Given the description of an element on the screen output the (x, y) to click on. 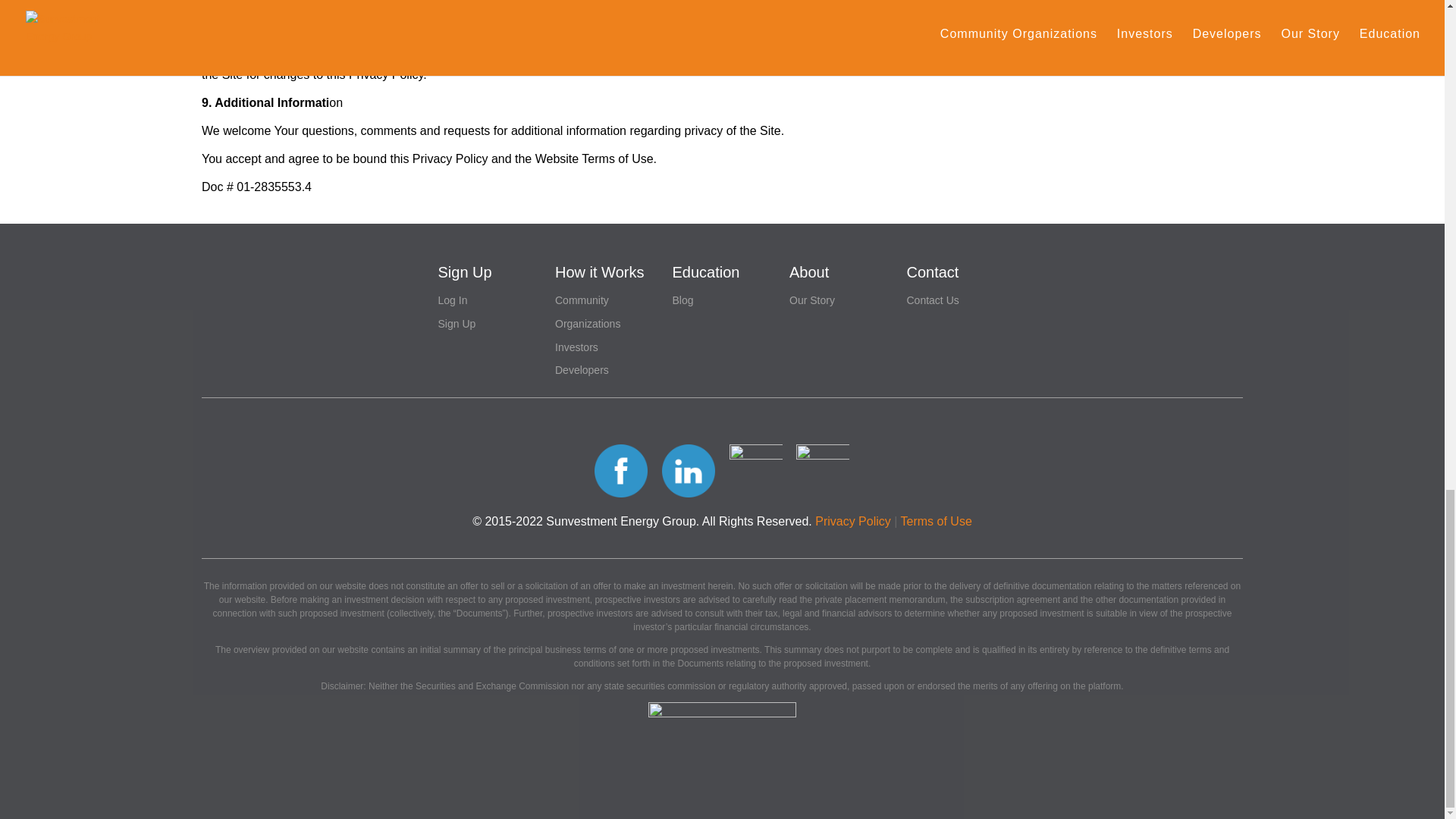
Contact Us (933, 300)
Terms of Use (936, 521)
Privacy Policy (853, 521)
Investors (576, 346)
Log In (452, 300)
Developers (581, 369)
Blog (682, 300)
Our Story (811, 300)
Sign Up (457, 323)
Community Organizations (587, 312)
